Given the description of an element on the screen output the (x, y) to click on. 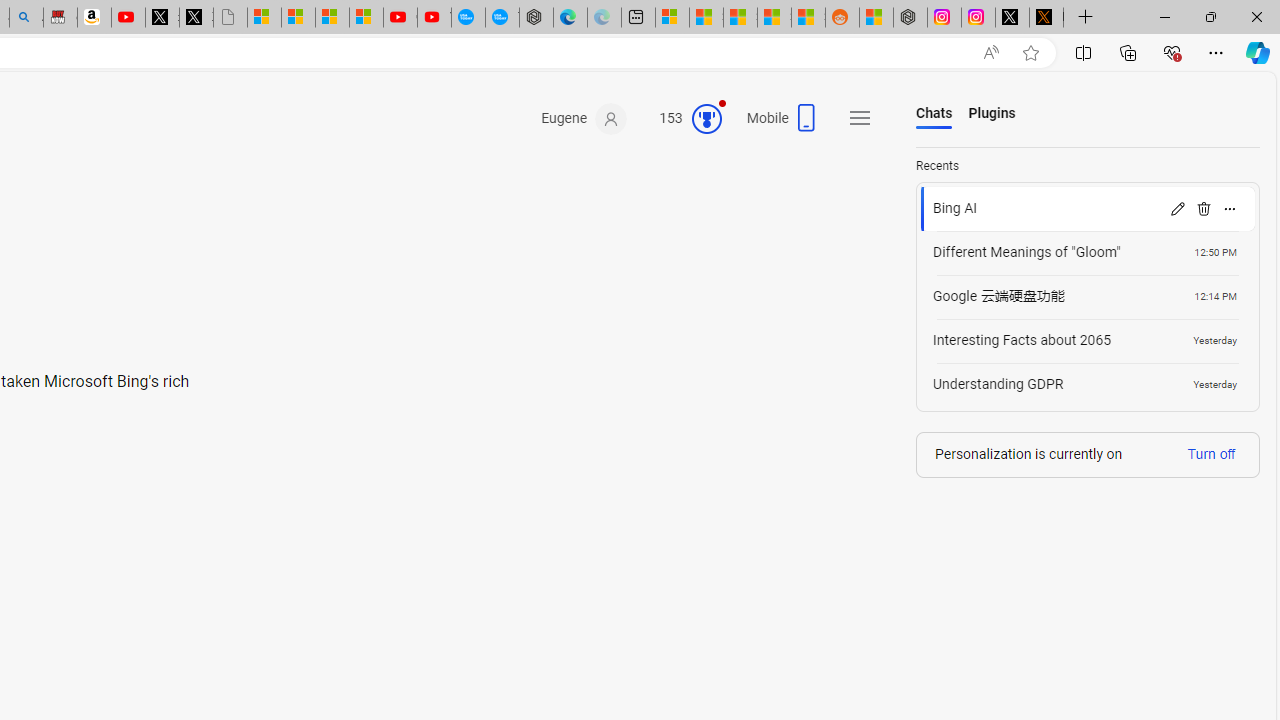
Microsoft account | Microsoft Account Privacy Settings (671, 17)
Shanghai, China hourly forecast | Microsoft Weather (740, 17)
Mobile (783, 124)
Day 1: Arriving in Yemen (surreal to be here) - YouTube (127, 17)
Eugene (584, 119)
Delete (1203, 208)
Nordace - Nordace has arrived Hong Kong (535, 17)
